Given the description of an element on the screen output the (x, y) to click on. 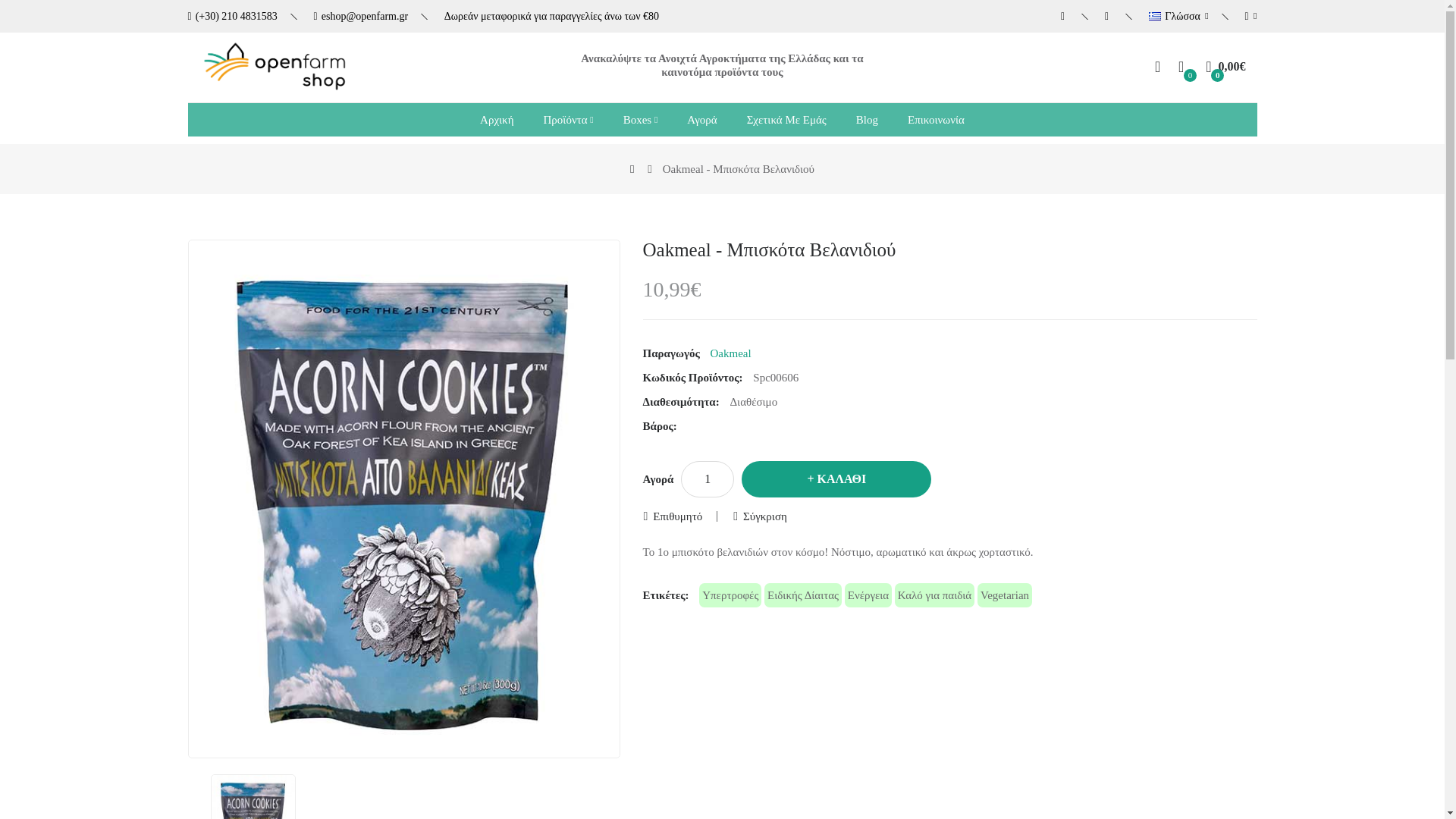
1 (707, 479)
Greek (1154, 16)
